Given the description of an element on the screen output the (x, y) to click on. 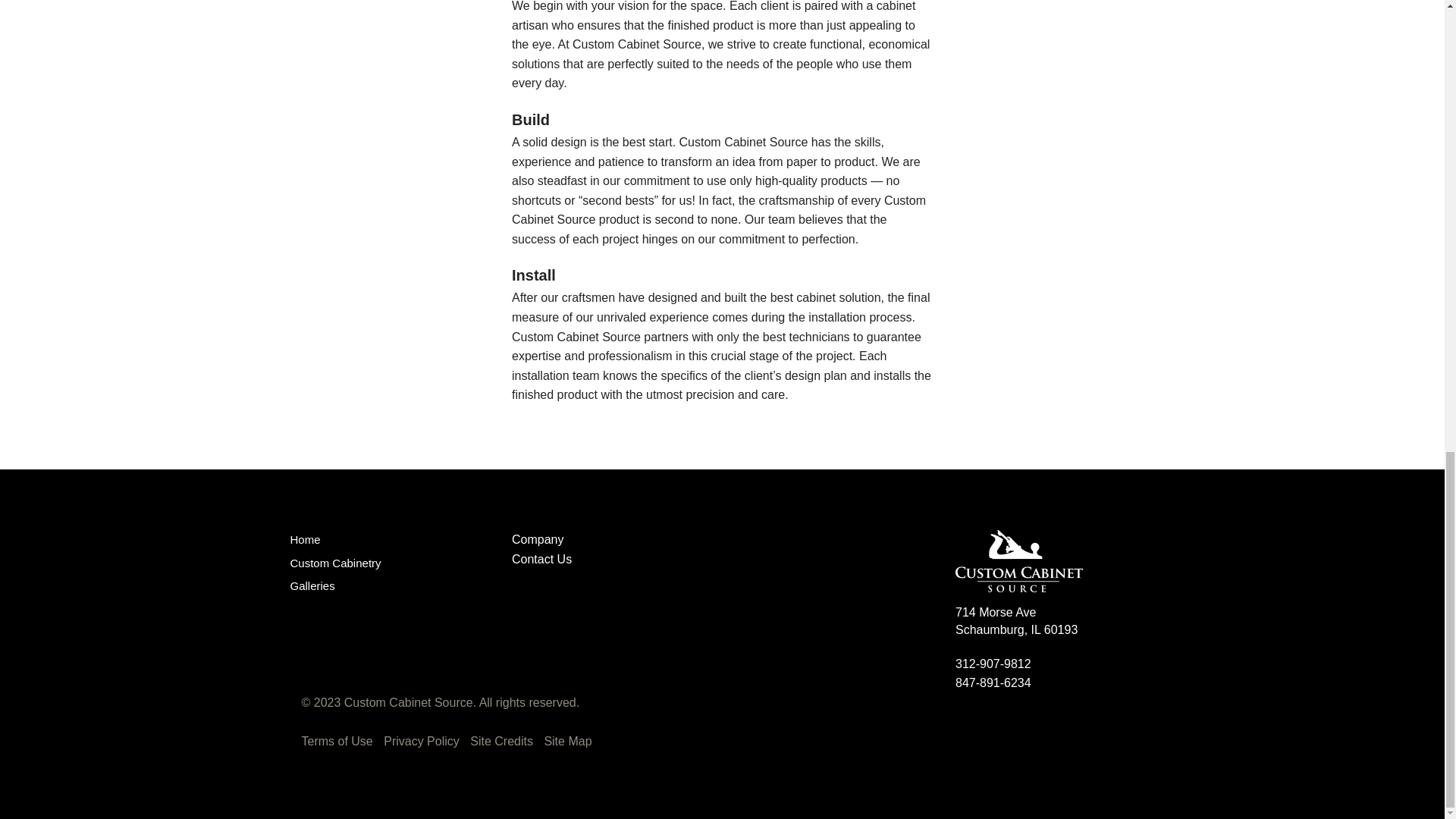
Custom Cabinetry (334, 562)
Terms of Use (336, 739)
Site Map (567, 739)
Galleries (311, 585)
Site Credits (501, 739)
Contact Us (542, 558)
Privacy Policy (422, 739)
Company (537, 539)
Home (304, 539)
